Given the description of an element on the screen output the (x, y) to click on. 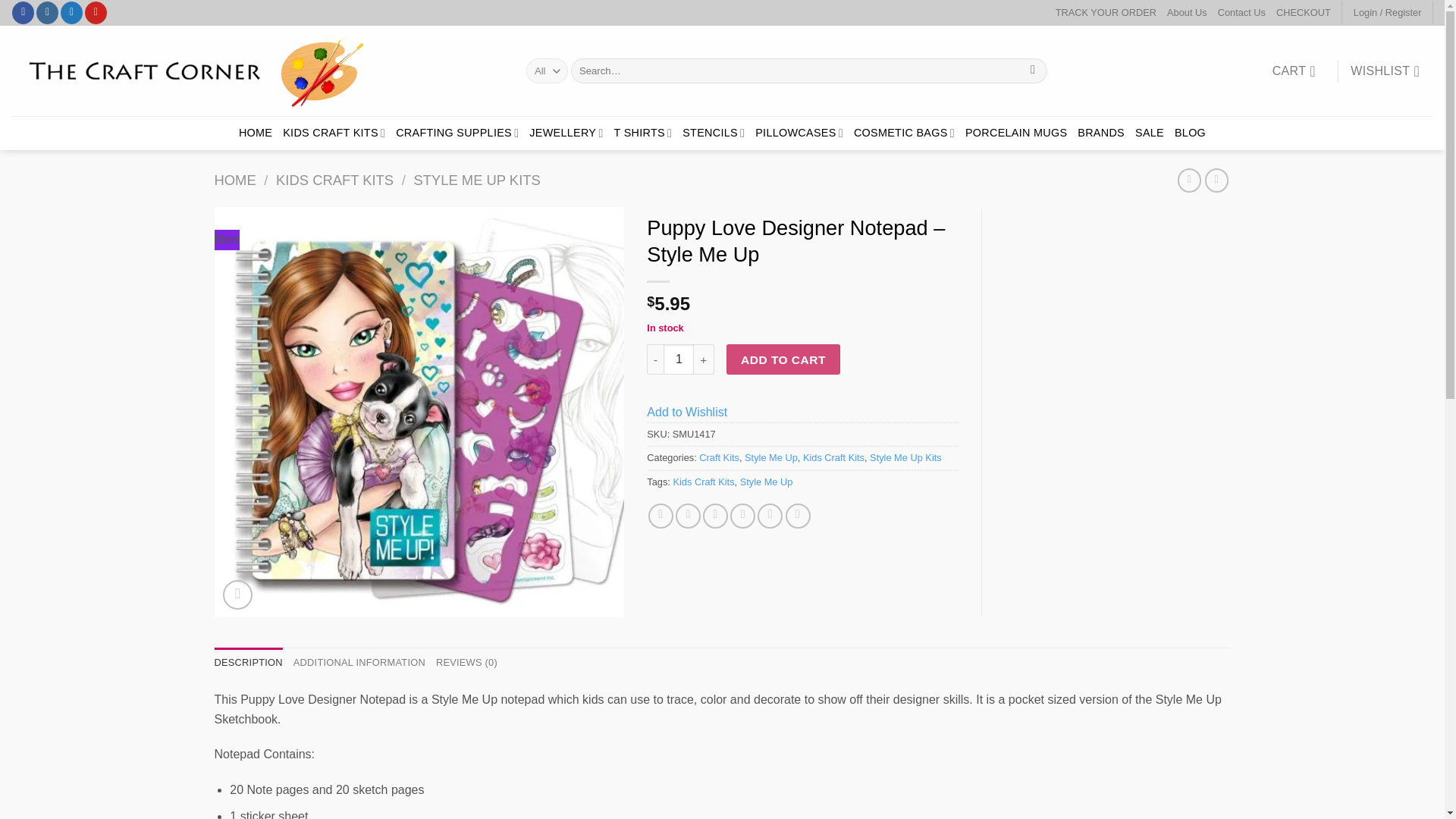
About Us (1187, 12)
Follow on Instagram (47, 12)
Zoom (236, 594)
CHECKOUT (1303, 12)
1 (678, 358)
WISHLIST (1385, 70)
Search (1032, 71)
The Craft Corner - Crafts and Gifts (257, 70)
Contact Us (1241, 12)
Login (1388, 12)
